Given the description of an element on the screen output the (x, y) to click on. 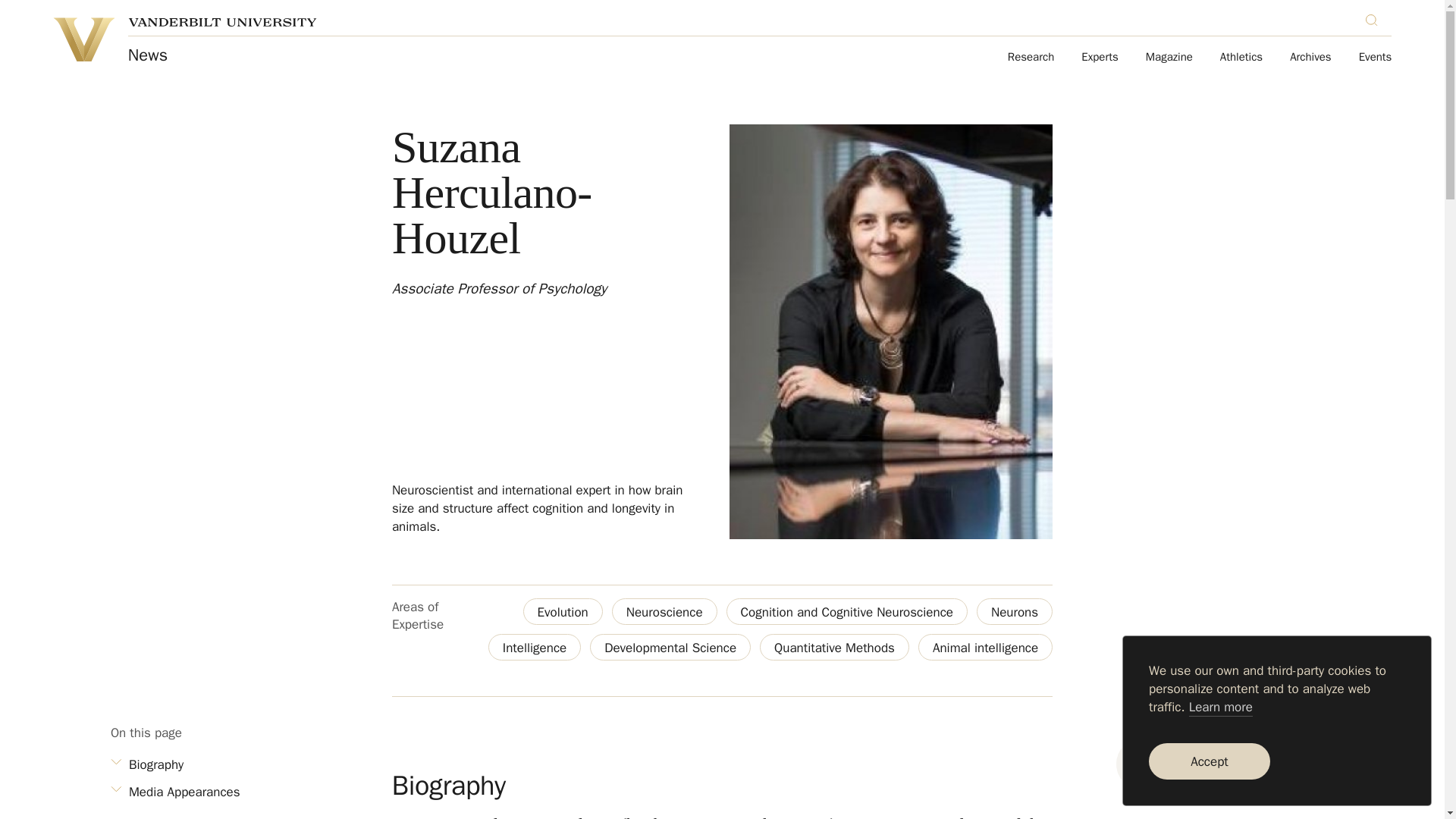
Archives (1311, 57)
Learn more (1220, 707)
Biography (187, 764)
Animal intelligence (985, 646)
Developmental Science (670, 646)
Cognition and Cognitive Neuroscience (847, 611)
Athletics (1241, 57)
Events (1374, 57)
Quantitative Methods (834, 646)
Evolution (562, 611)
